Given the description of an element on the screen output the (x, y) to click on. 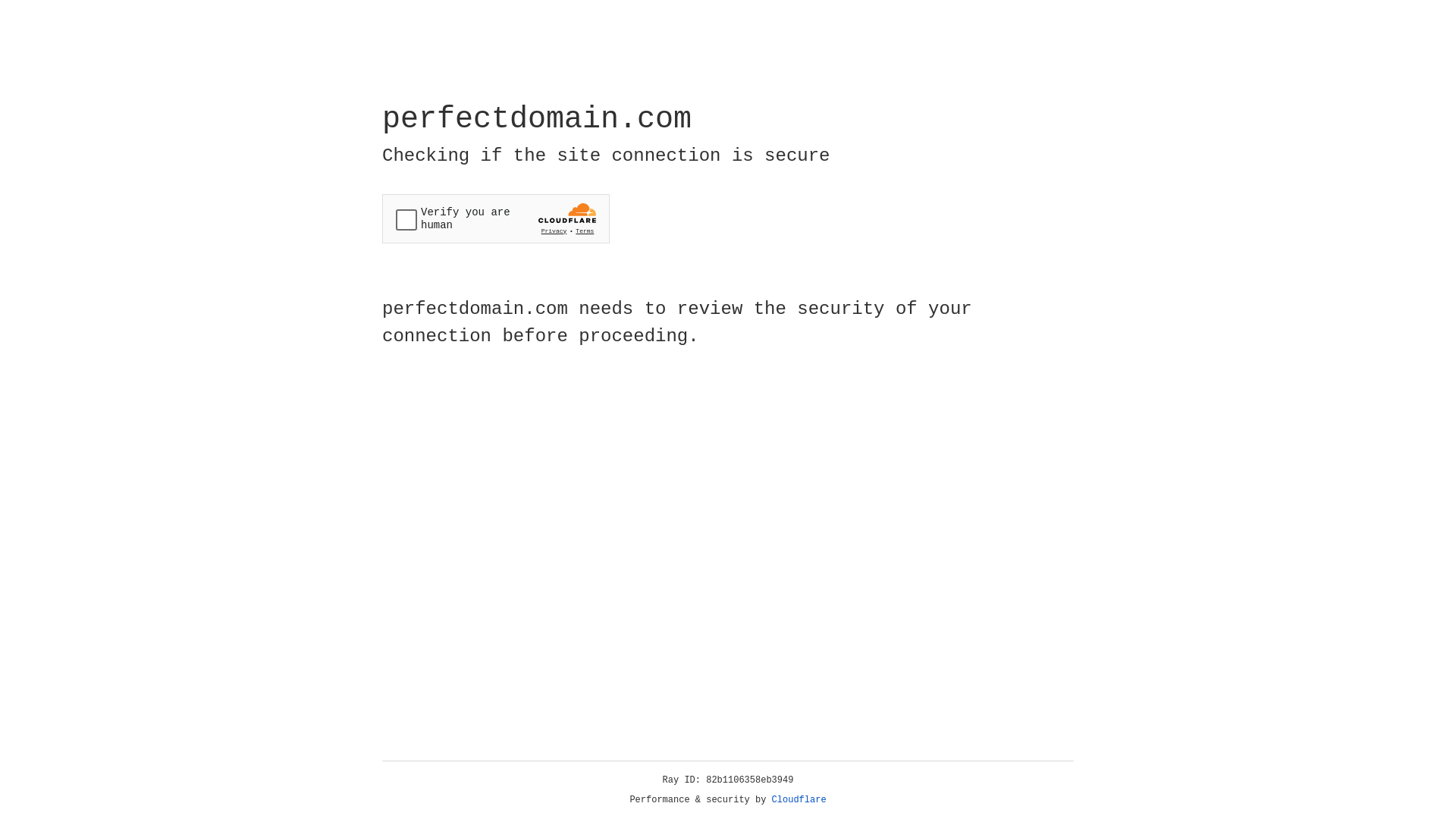
Cloudflare Element type: text (798, 799)
Widget containing a Cloudflare security challenge Element type: hover (495, 218)
